Given the description of an element on the screen output the (x, y) to click on. 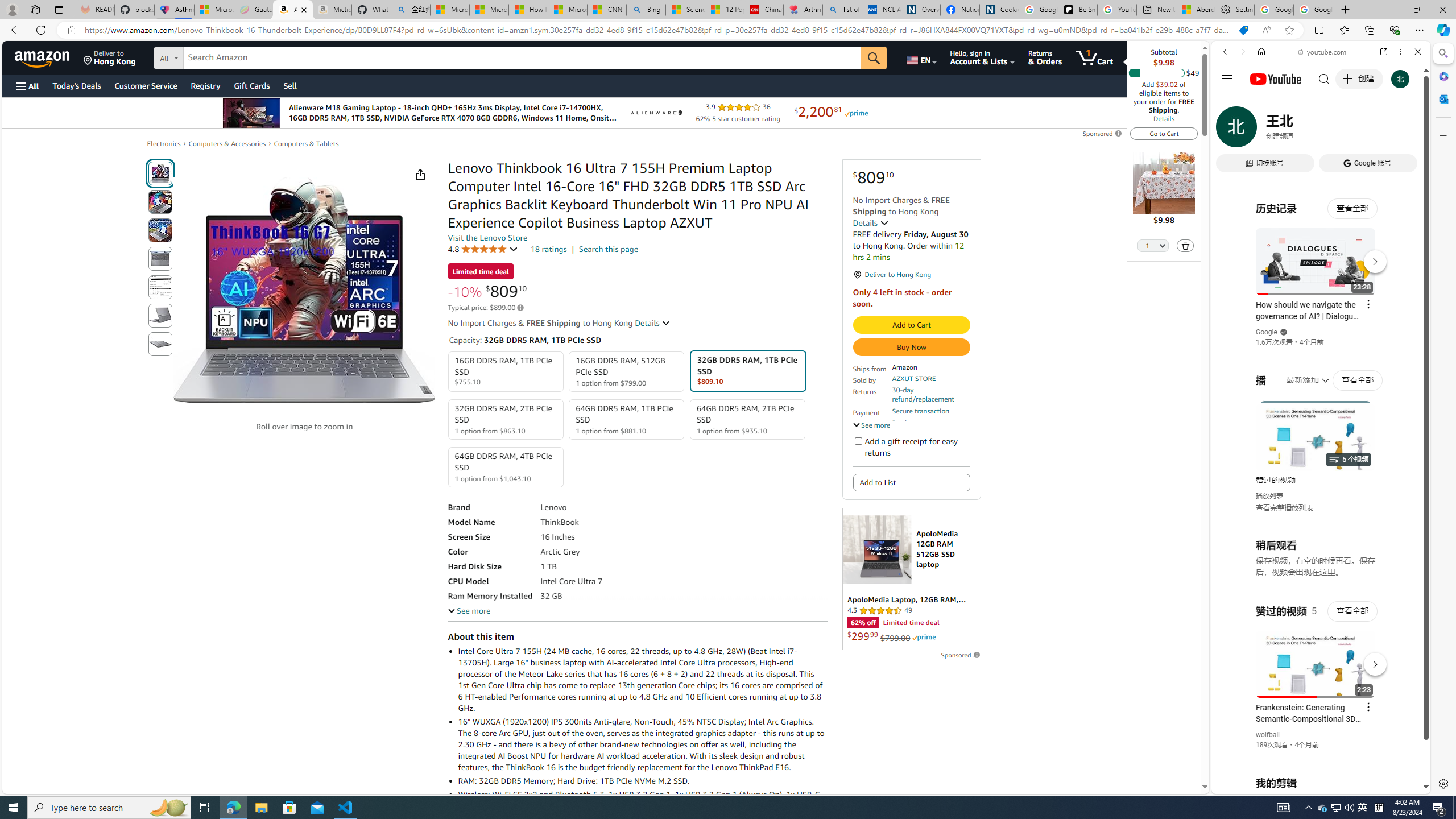
Details (1163, 118)
Returns & Orders (1045, 57)
64GB DDR5 RAM, 1TB PCIe SSD 1 option from $881.10 (626, 418)
64GB DDR5 RAM, 4TB PCIe SSD 1 option from $1,043.10 (505, 466)
CNN - MSN (606, 9)
Electronics (163, 143)
